Given the description of an element on the screen output the (x, y) to click on. 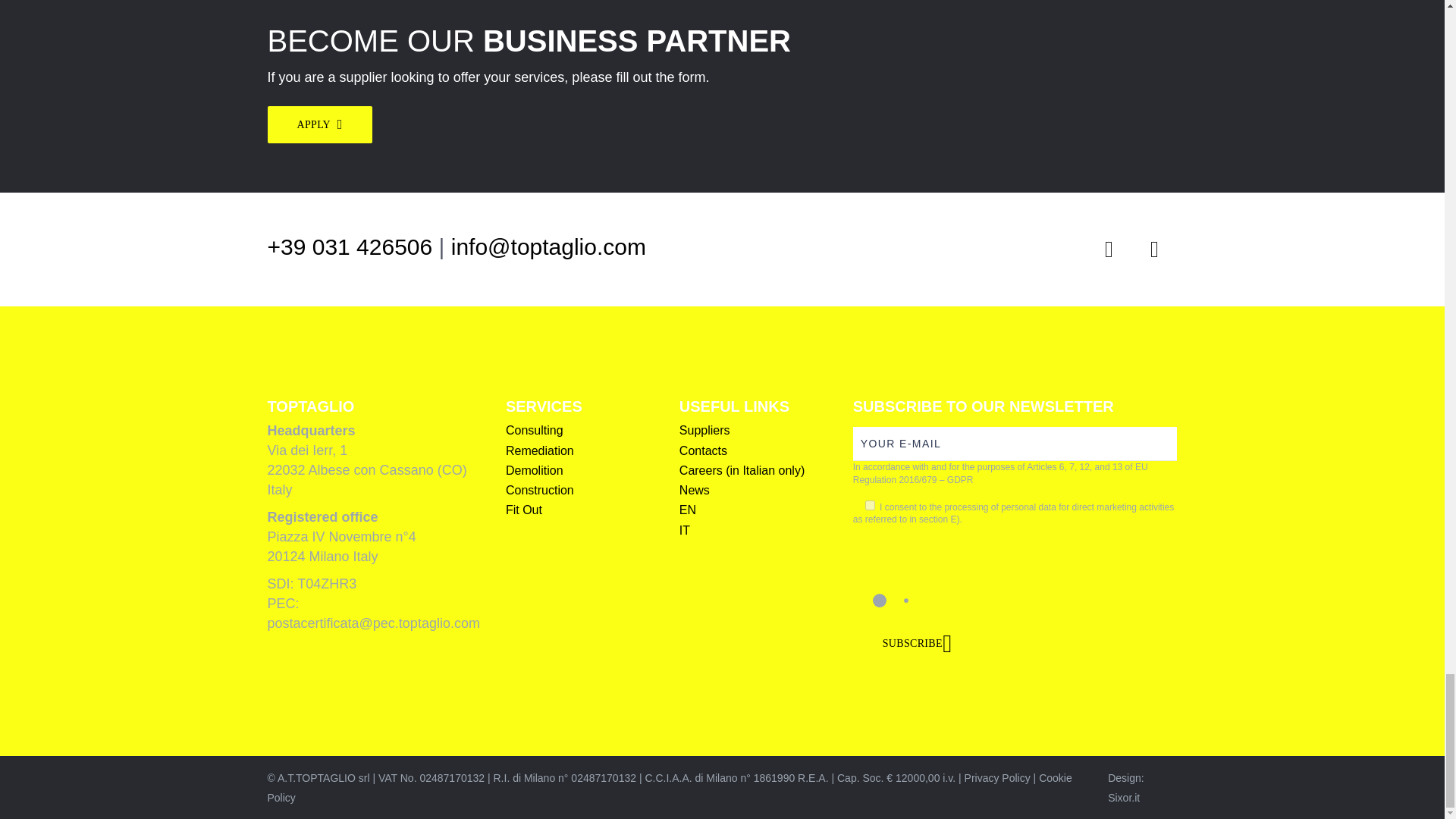
1 (869, 505)
APPLY (318, 124)
